Given the description of an element on the screen output the (x, y) to click on. 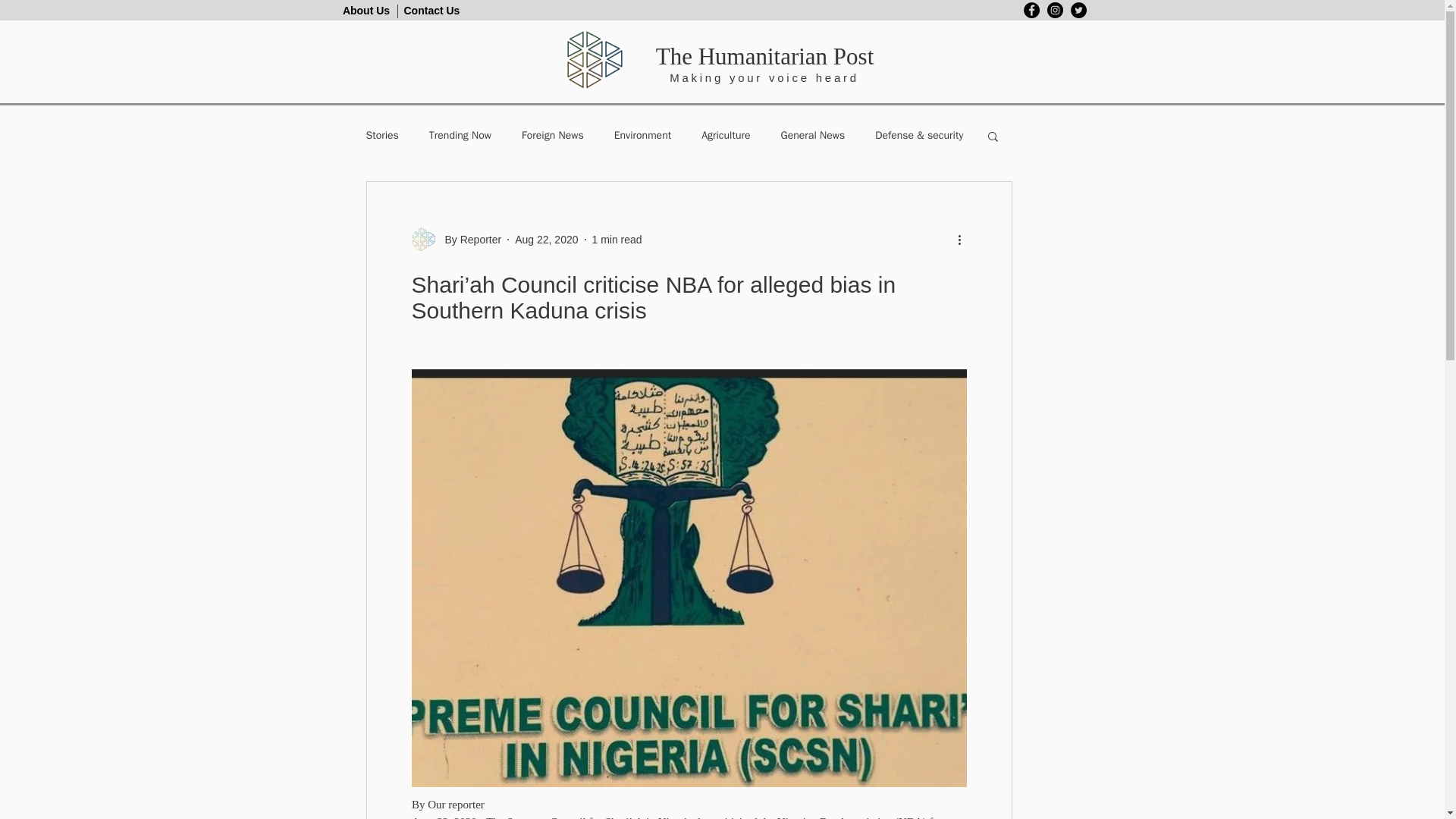
Contact Us (431, 10)
Stories (381, 135)
Environment (642, 135)
The Humanitarian Post (765, 56)
Foreign News (552, 135)
Trending Now (460, 135)
About Us (365, 11)
1 min read (616, 239)
Aug 22, 2020 (546, 239)
By Reporter (467, 239)
General News (812, 135)
Agriculture (725, 135)
